Given the description of an element on the screen output the (x, y) to click on. 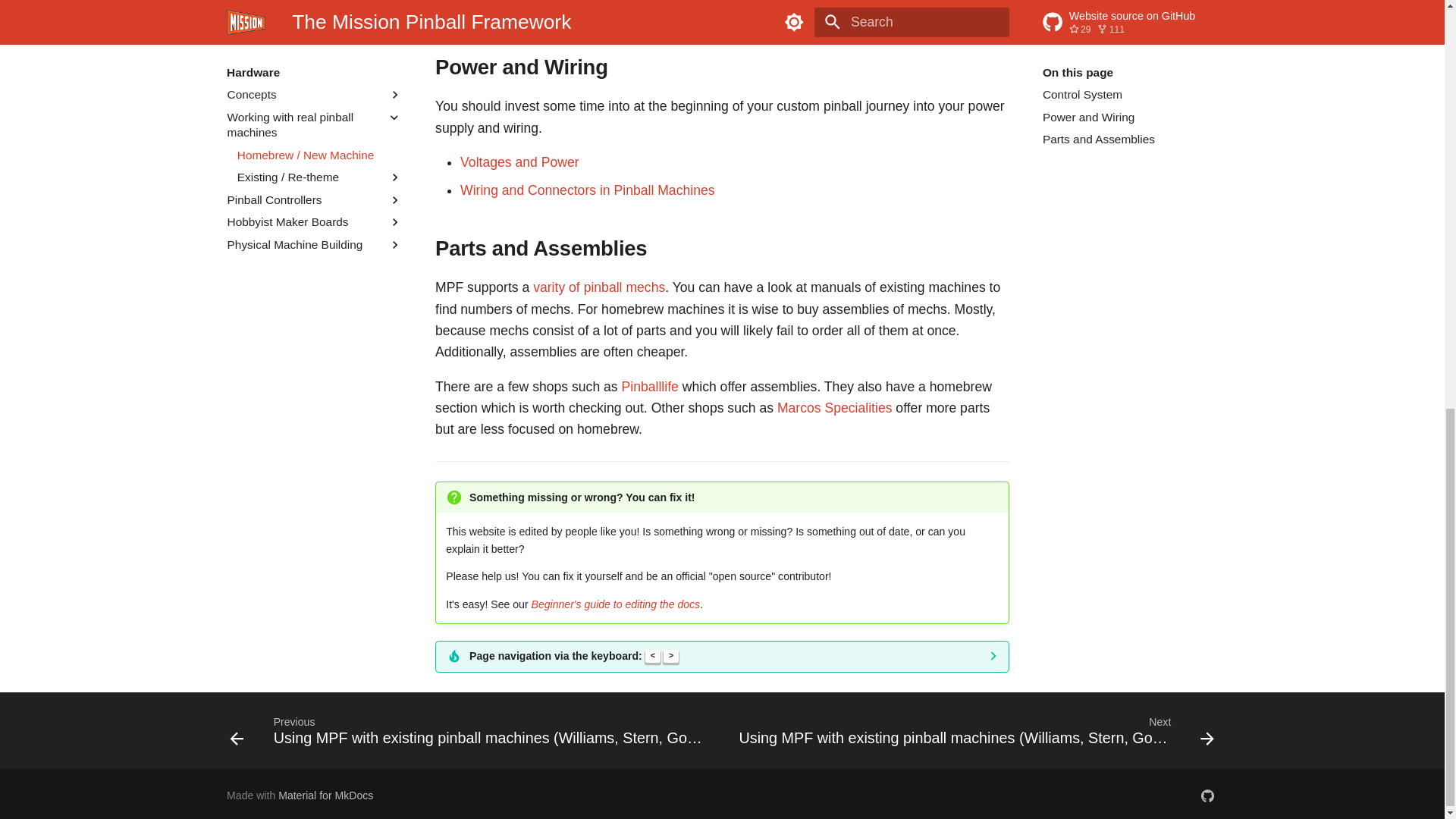
github.com (1207, 795)
